Given the description of an element on the screen output the (x, y) to click on. 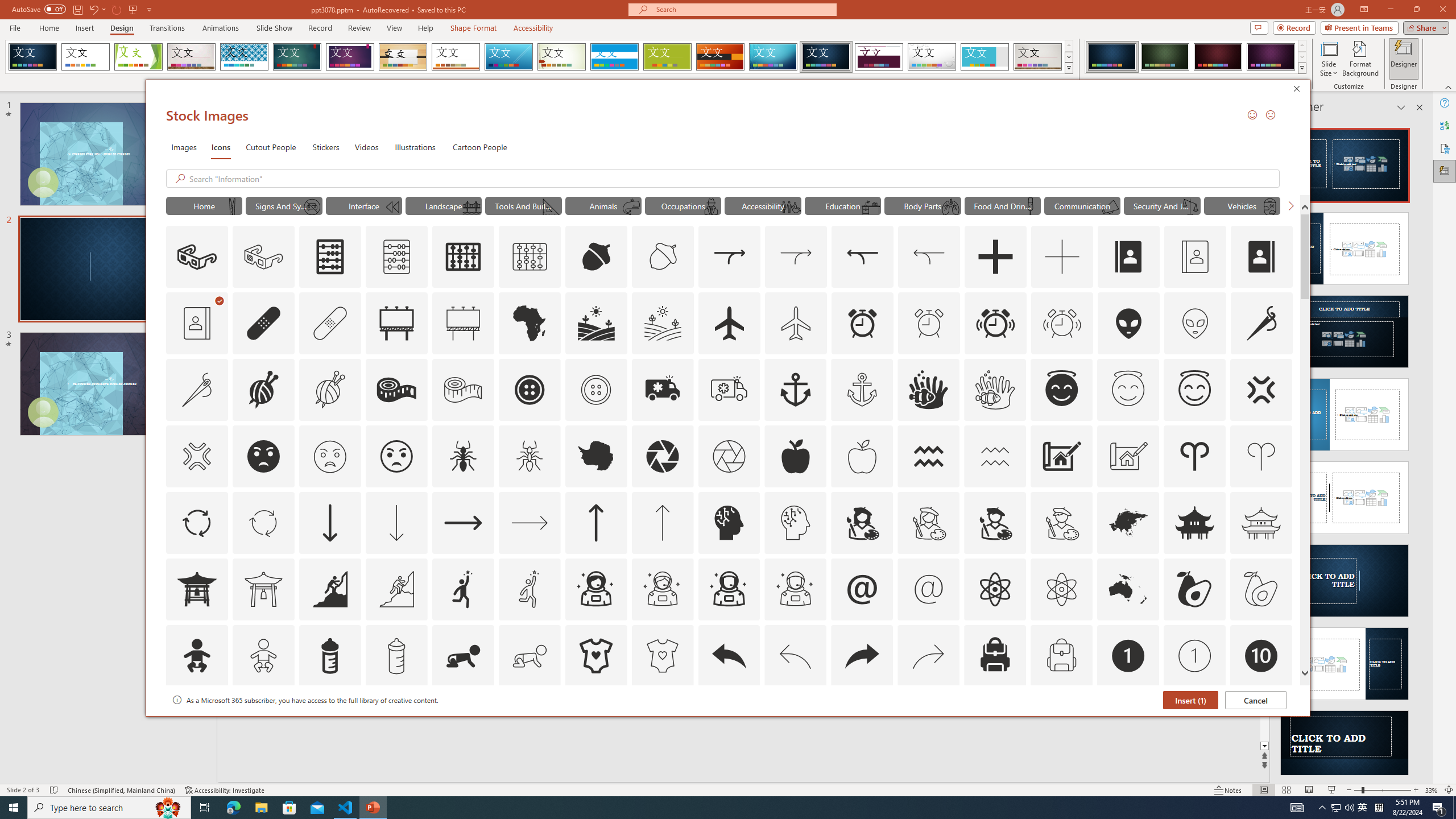
Stickers (326, 146)
AutomationID: Icons_Badge3_M (462, 721)
Send a Frown (1269, 114)
AutomationID: Icons_AlarmClock (863, 323)
AutomationID: Icons_AngerSymbol_M (196, 455)
AutomationID: Icons_ArtistMale_M (1061, 522)
Illustrations (415, 146)
AutomationID: Icons_Ambulance (662, 389)
AutomationID: Icons_TriangleRuler_M (551, 206)
Damask Variant 3 (1217, 56)
